Given the description of an element on the screen output the (x, y) to click on. 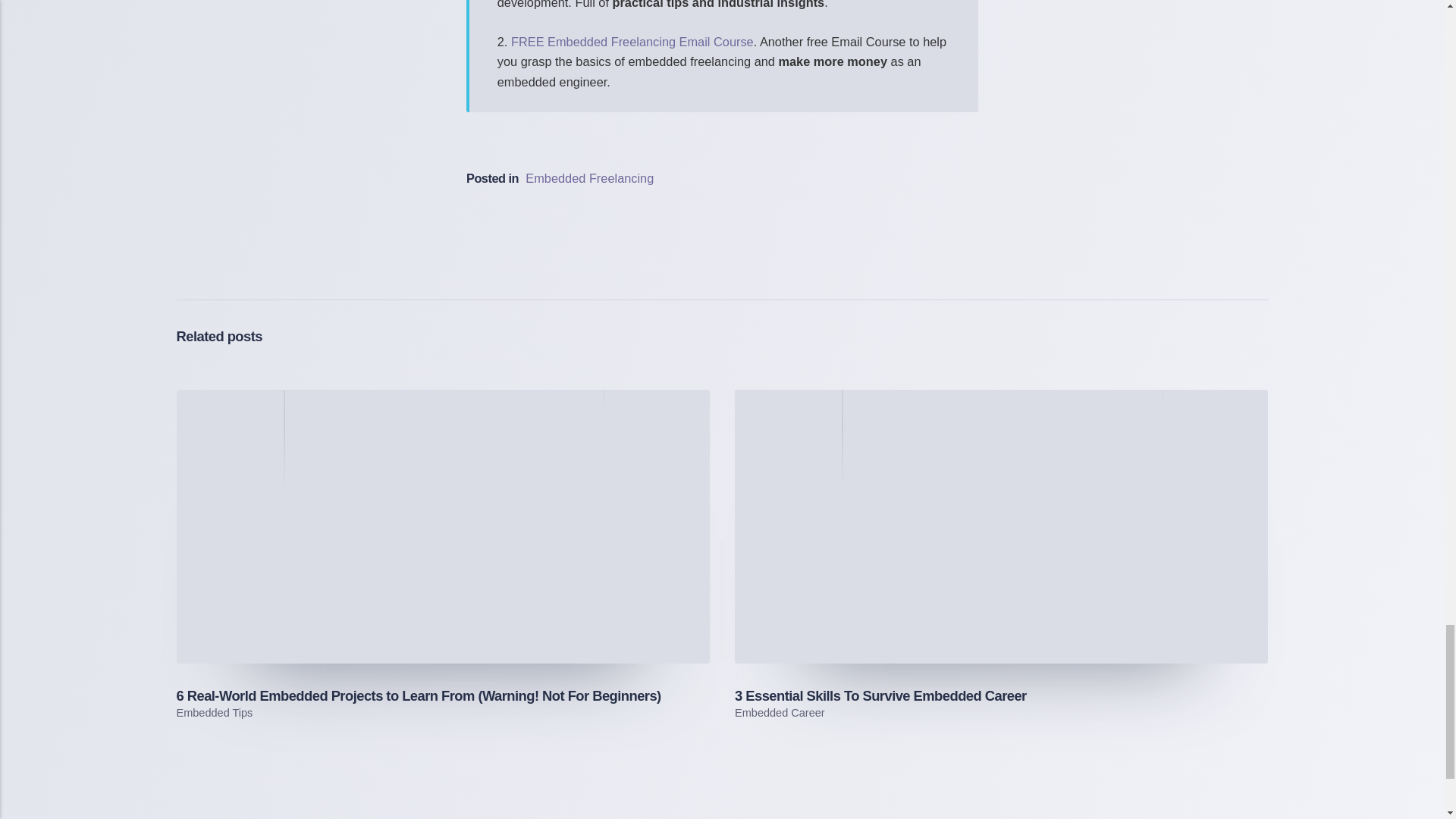
Embedded Freelancing (589, 178)
FREE Embedded Freelancing Email Course (632, 41)
Embedded Tips (213, 712)
Embedded Career (780, 712)
3 Essential Skills To Survive Embedded Career (880, 695)
